Given the description of an element on the screen output the (x, y) to click on. 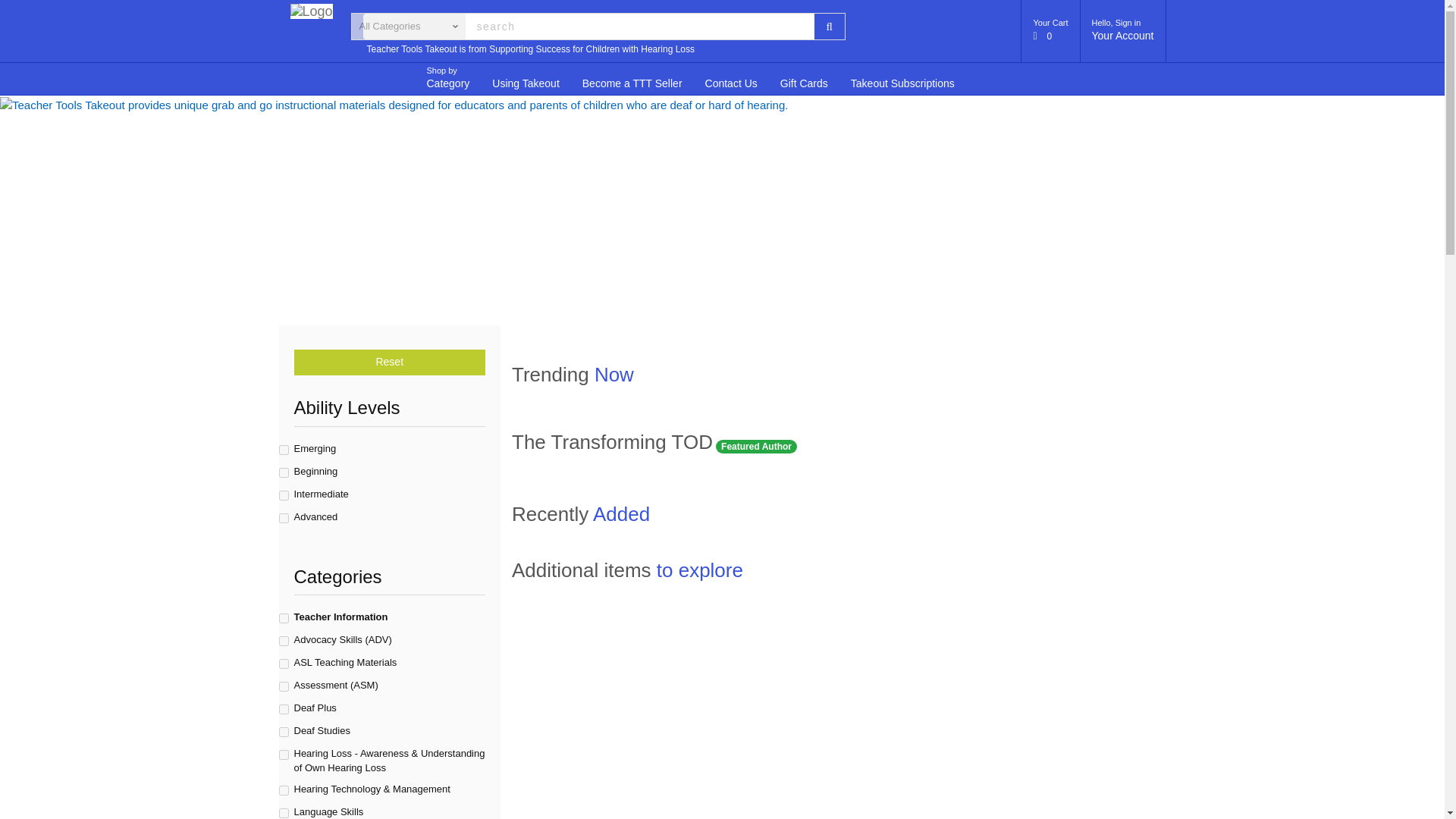
4 (283, 686)
5 (1051, 31)
3 (283, 709)
7 (283, 664)
9 (283, 755)
1 (283, 450)
